Given the description of an element on the screen output the (x, y) to click on. 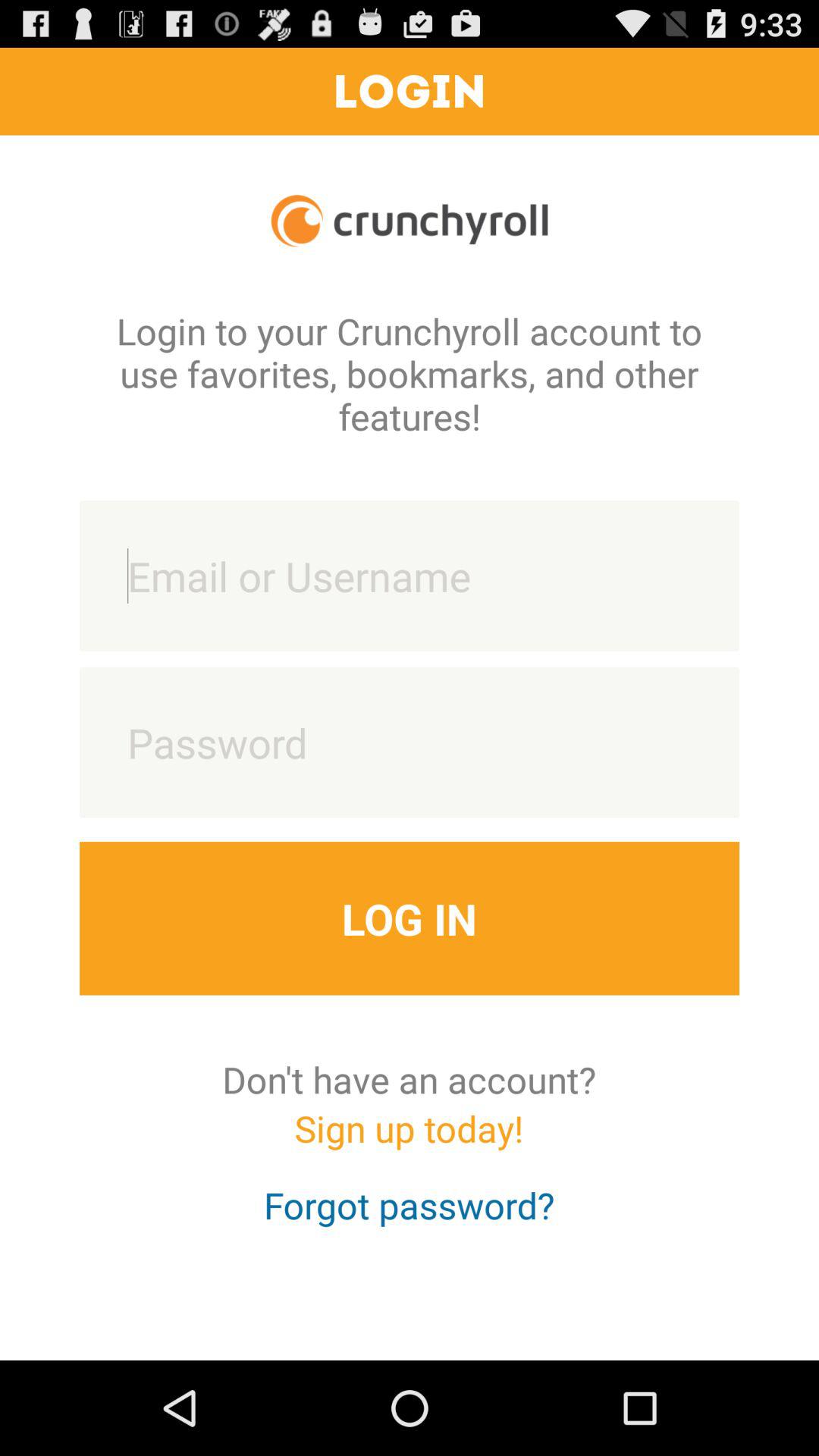
enter password to login (409, 742)
